Given the description of an element on the screen output the (x, y) to click on. 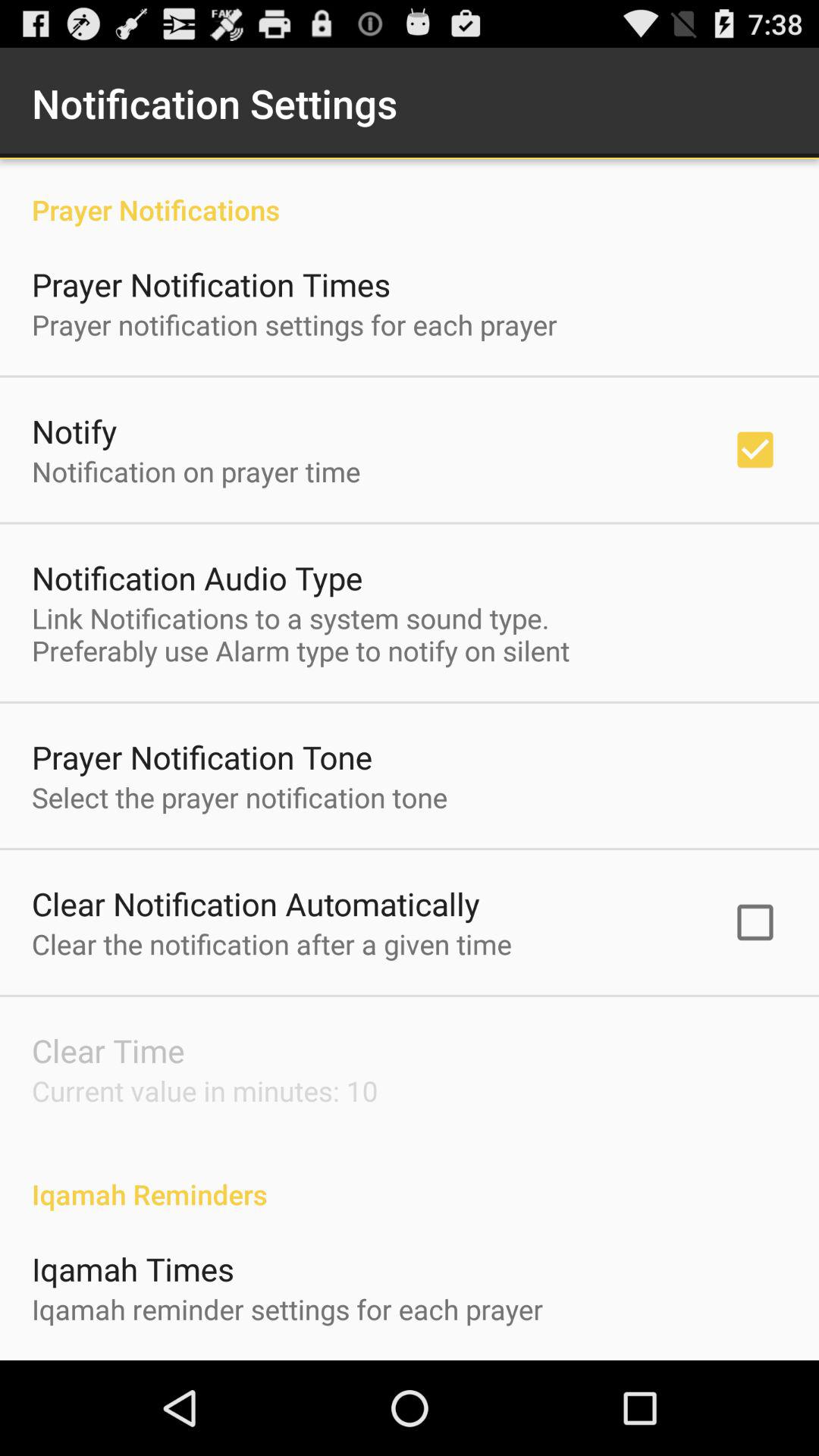
scroll until the notification audio type (196, 577)
